Given the description of an element on the screen output the (x, y) to click on. 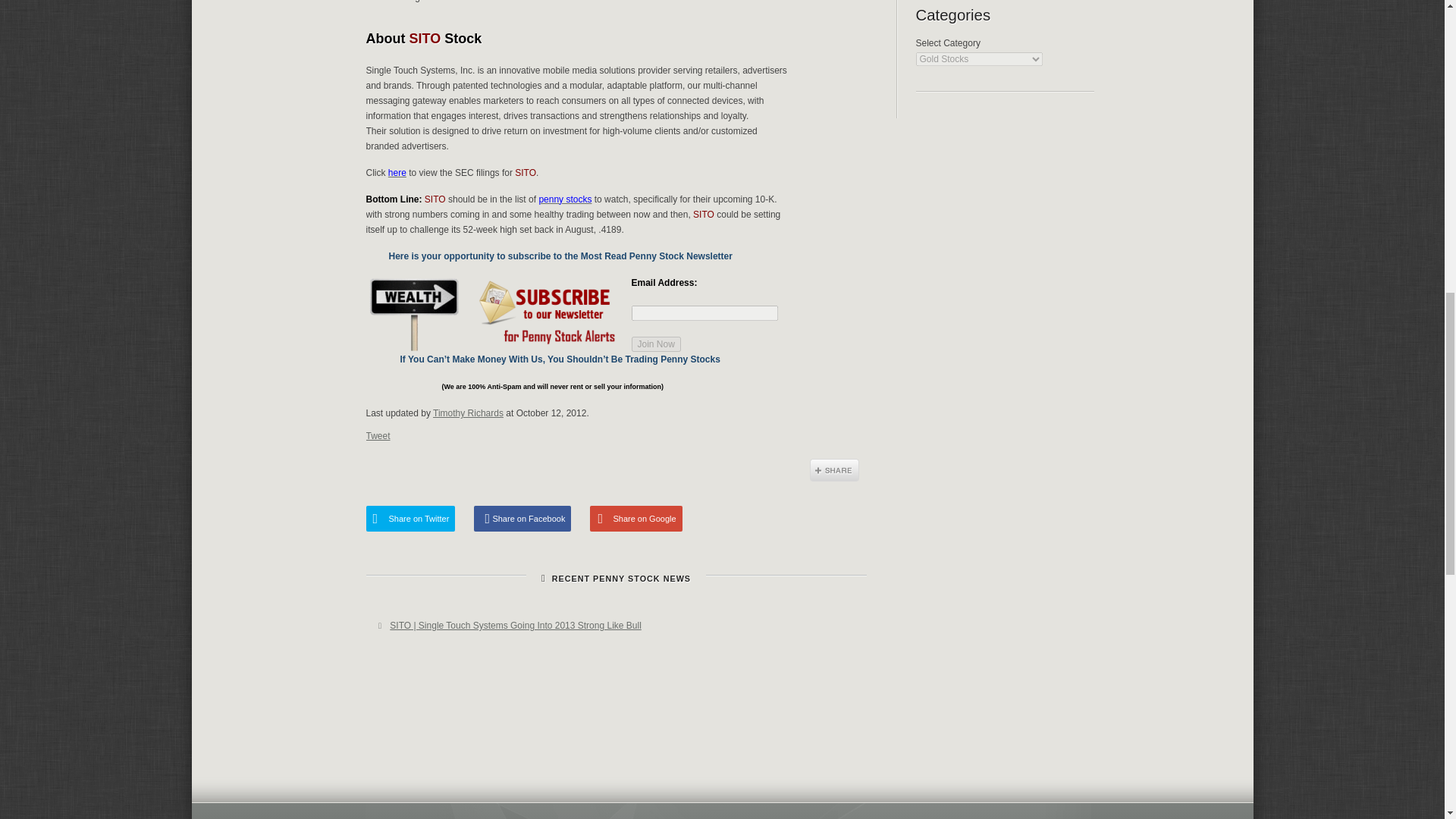
penny stocks (564, 199)
Timothy Richards (467, 412)
here (397, 172)
Share on Google (635, 518)
Share on Facebook (522, 518)
Join Now (654, 344)
Share (834, 469)
Tweet (377, 435)
Share on Twitter (409, 518)
Join Now (654, 344)
